Given the description of an element on the screen output the (x, y) to click on. 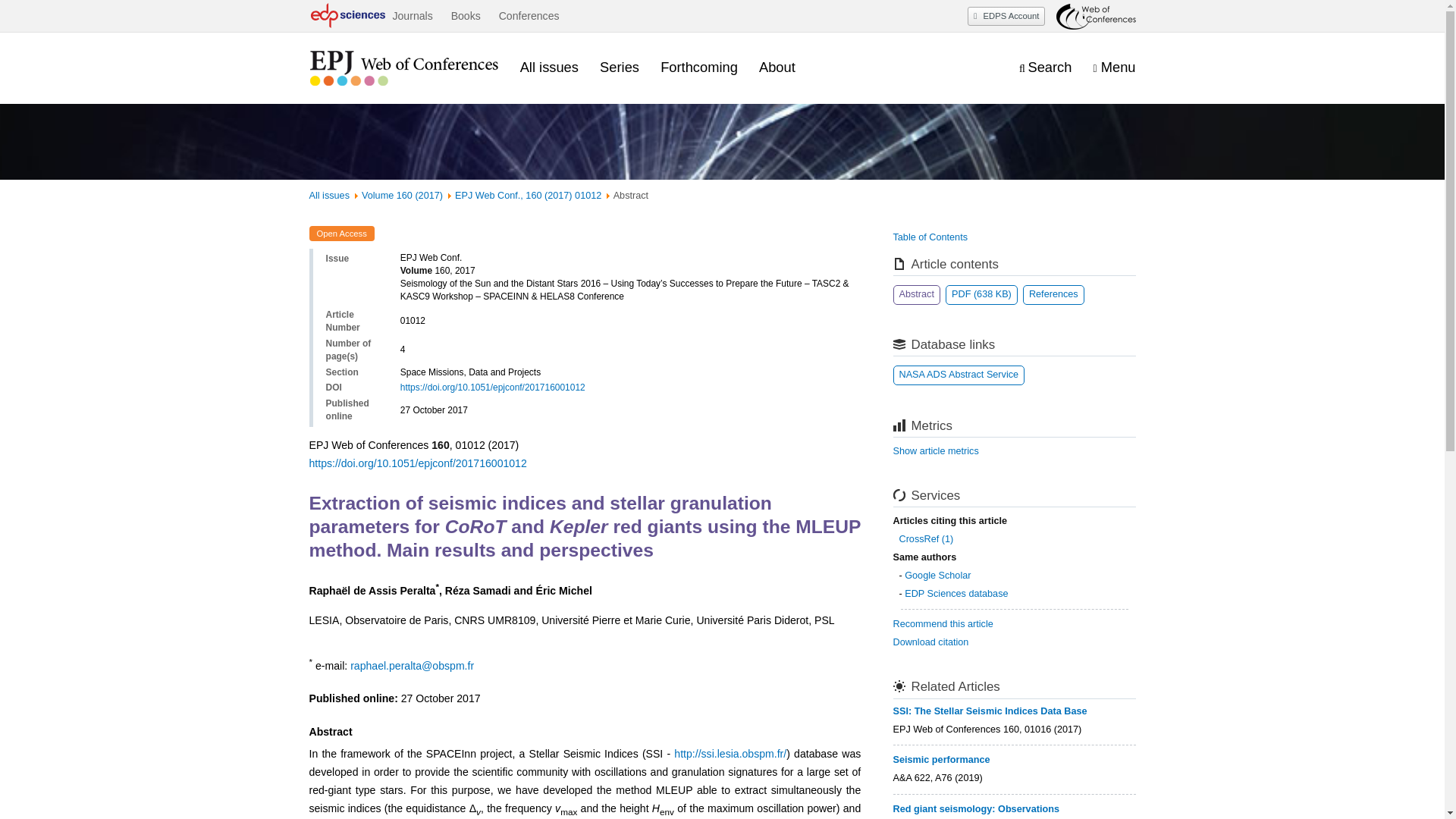
Forthcoming (699, 67)
Menu (1114, 67)
Abstract (916, 294)
References (1053, 294)
About (776, 67)
Journals (411, 16)
Books (465, 16)
Display the search engine (1045, 67)
All issues (548, 67)
Conferences (529, 16)
Journal homepage (403, 67)
All issues (328, 195)
Series (619, 67)
